Given the description of an element on the screen output the (x, y) to click on. 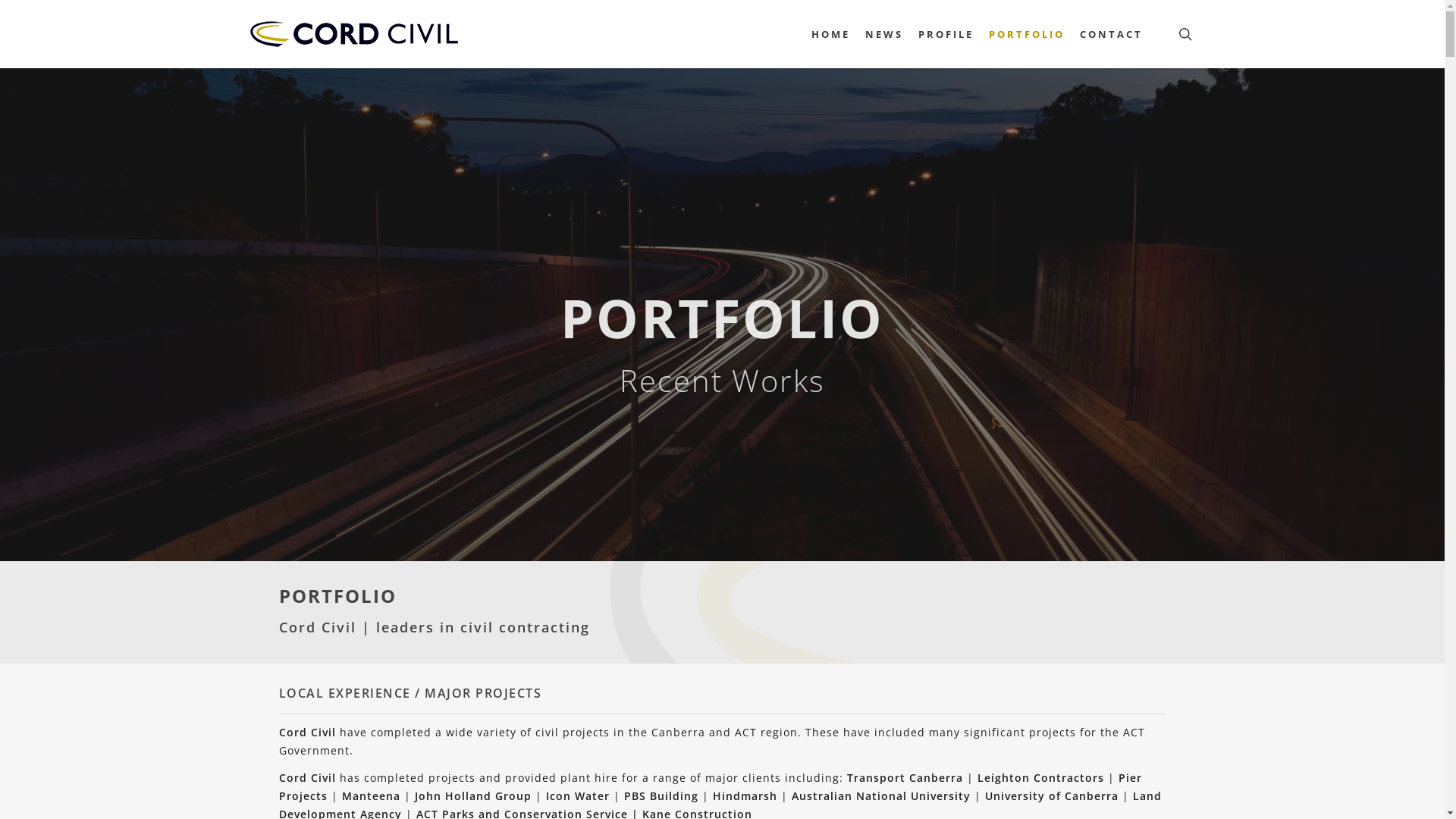
HOME Element type: text (830, 33)
PROFILE Element type: text (945, 33)
NEWS Element type: text (883, 33)
search Element type: text (1185, 33)
PORTFOLIO Element type: text (1026, 33)
CONTACT Element type: text (1111, 33)
